Given the description of an element on the screen output the (x, y) to click on. 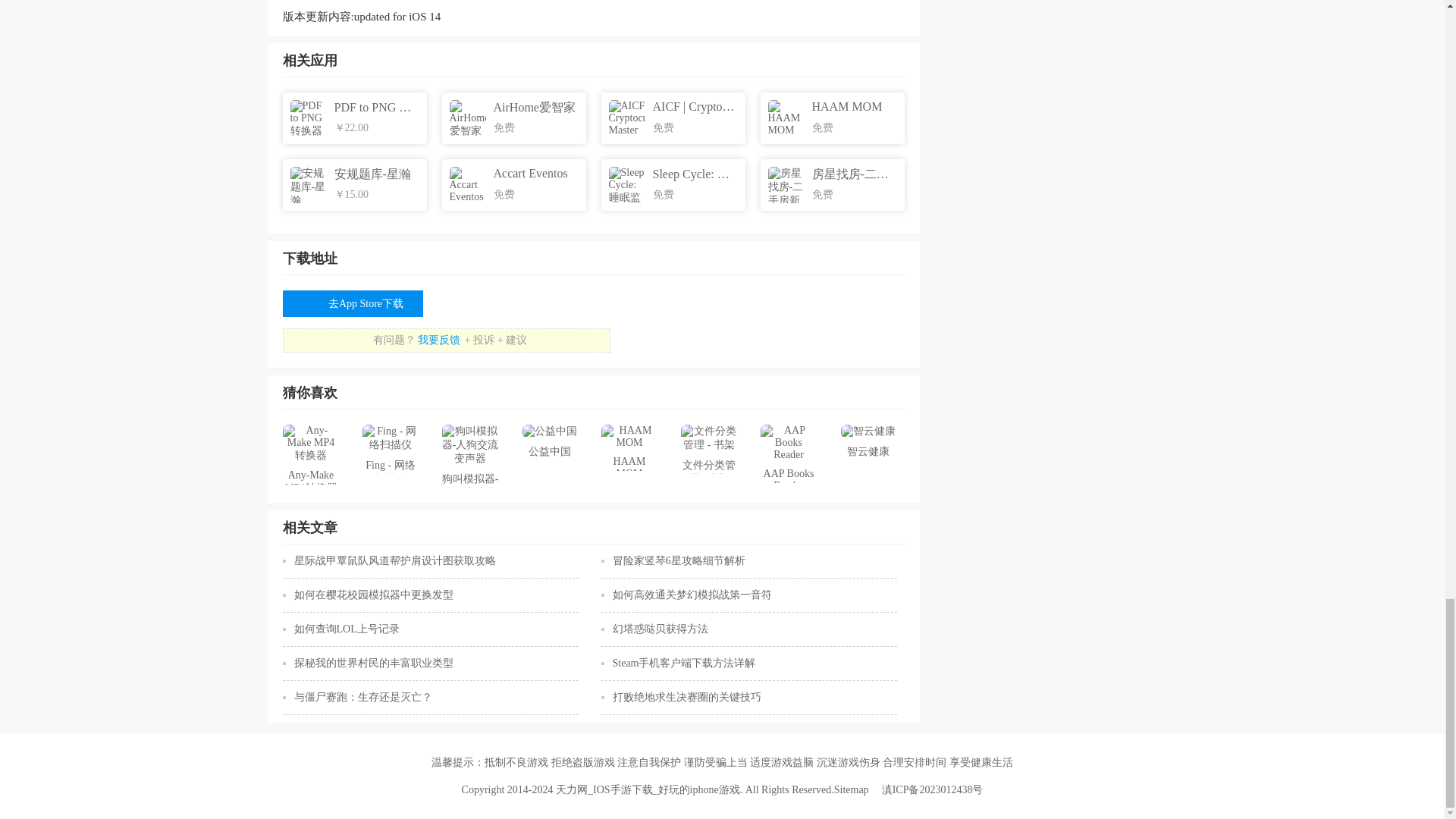
AAP Books Reader (788, 454)
Accart Eventos (509, 185)
HAAM MOM (828, 117)
HAAM MOM (628, 447)
